Given the description of an element on the screen output the (x, y) to click on. 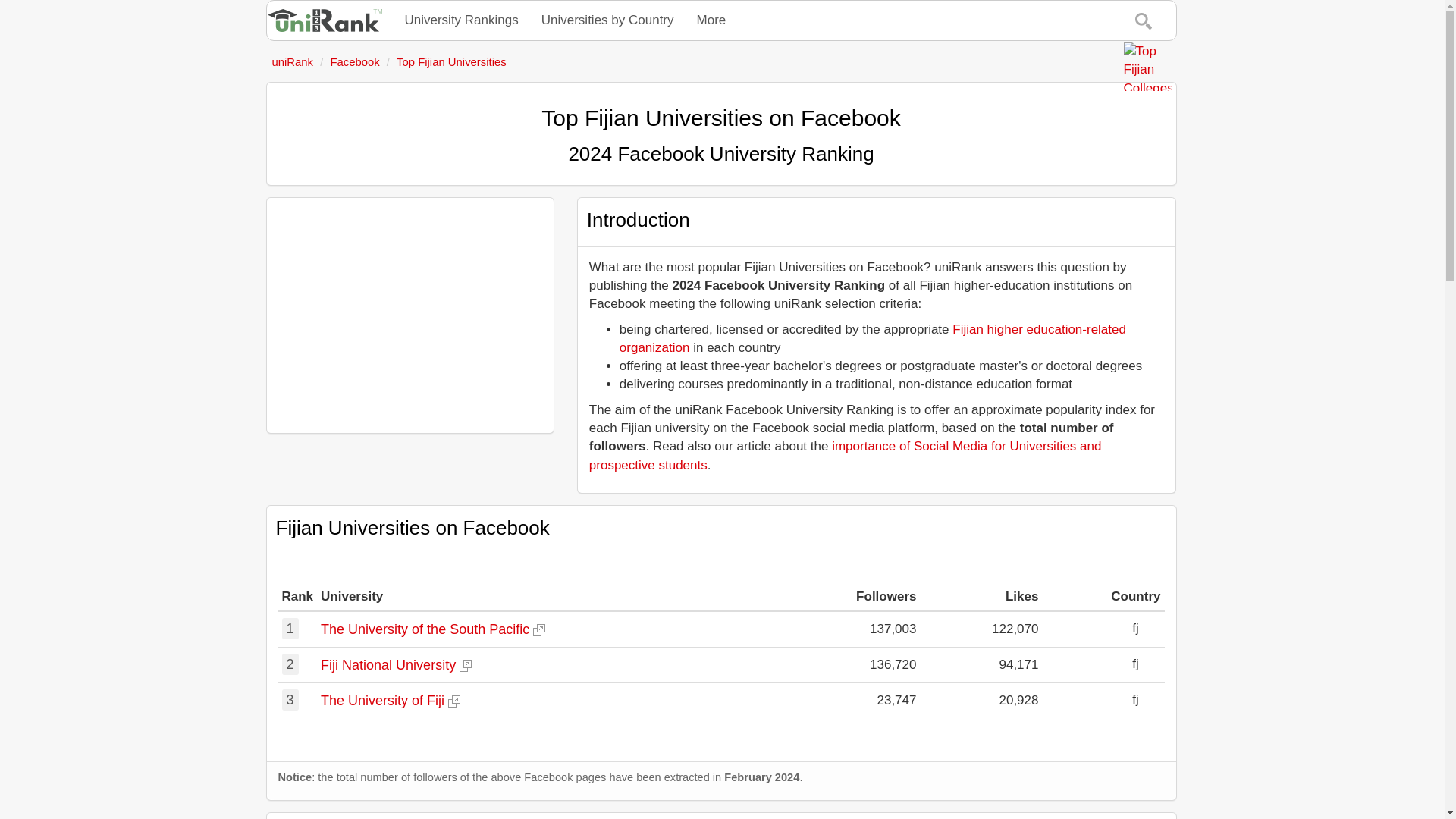
More (711, 20)
Universities by Country (607, 20)
University Rankings (461, 20)
